Given the description of an element on the screen output the (x, y) to click on. 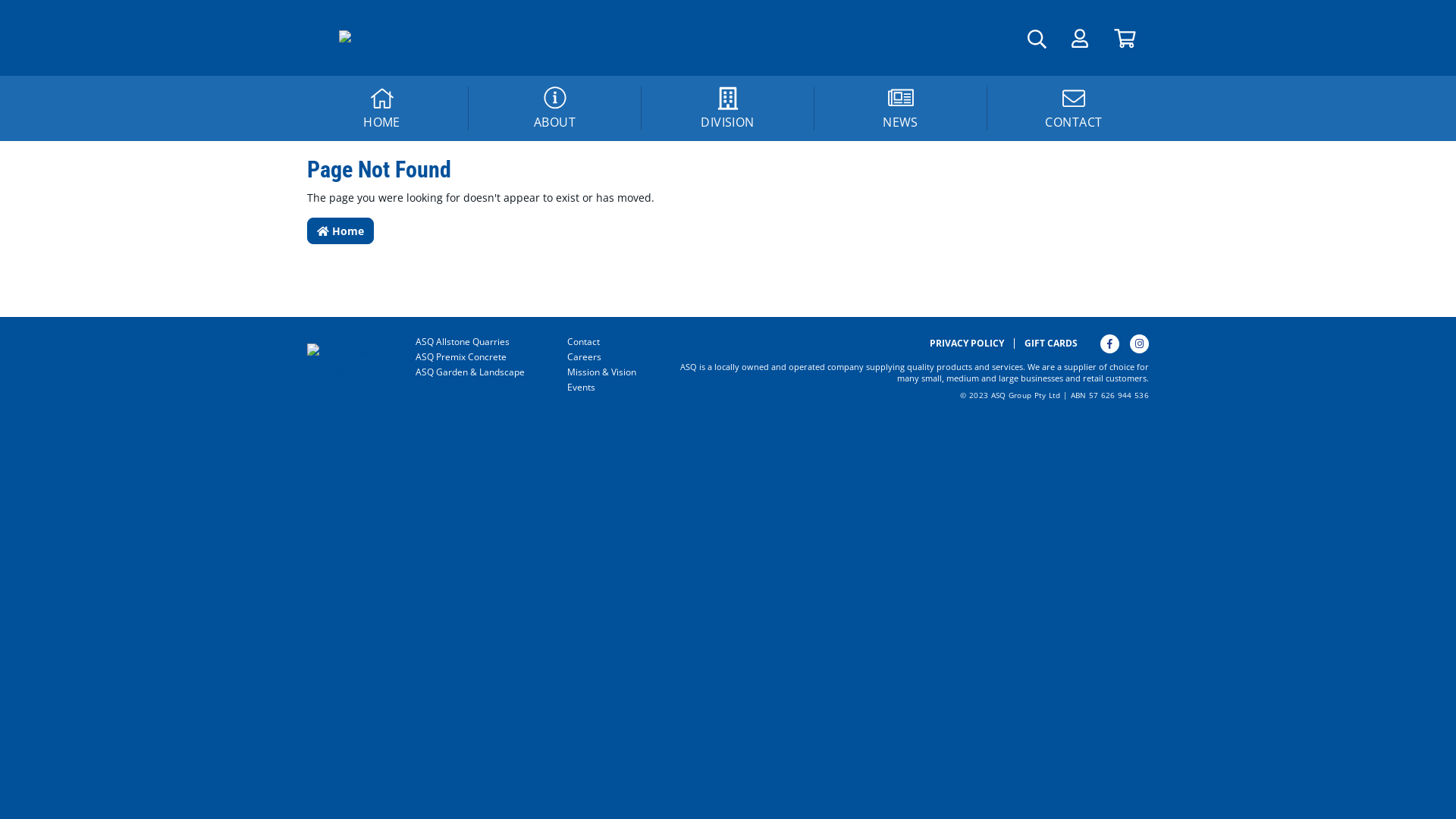
Facebook Element type: text (1109, 343)
Home Element type: text (340, 230)
GIFT CARDS Element type: text (1050, 343)
DIVISION Element type: text (727, 108)
NEWS Element type: text (900, 108)
Events Element type: text (605, 387)
Mission & Vision Element type: text (605, 371)
ASQ Allstone Quarries Element type: text (479, 341)
ABOUT Element type: text (554, 108)
Search Element type: text (17, 13)
PRIVACY POLICY Element type: text (966, 343)
Careers Element type: text (605, 356)
HOME Element type: text (381, 108)
ASQ Group Pty Ltd Element type: hover (403, 37)
Contact Element type: text (605, 341)
ASQ Garden & Landscape Element type: text (479, 371)
ASQ Group Pty Ltd Element type: hover (355, 358)
Instagram Element type: text (1138, 343)
CONTACT Element type: text (1073, 108)
ASQ Premix Concrete Element type: text (479, 356)
